Given the description of an element on the screen output the (x, y) to click on. 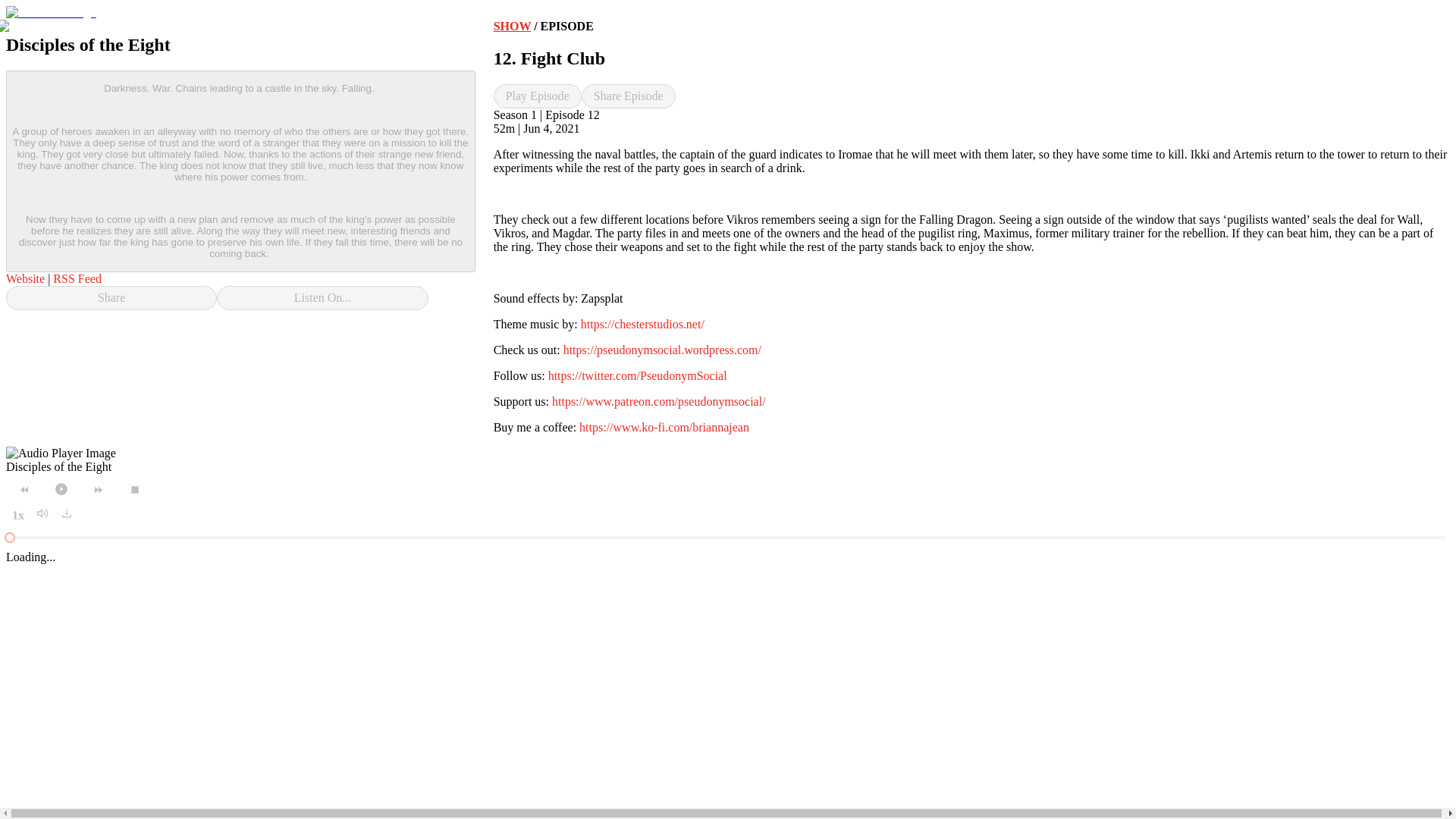
SHOW (512, 25)
Disciples of the Eight (58, 466)
Share Episode (627, 96)
Listen On... (322, 297)
Share (110, 297)
Play Episode (536, 96)
RSS Feed (76, 278)
1x (17, 515)
Website (25, 278)
